Given the description of an element on the screen output the (x, y) to click on. 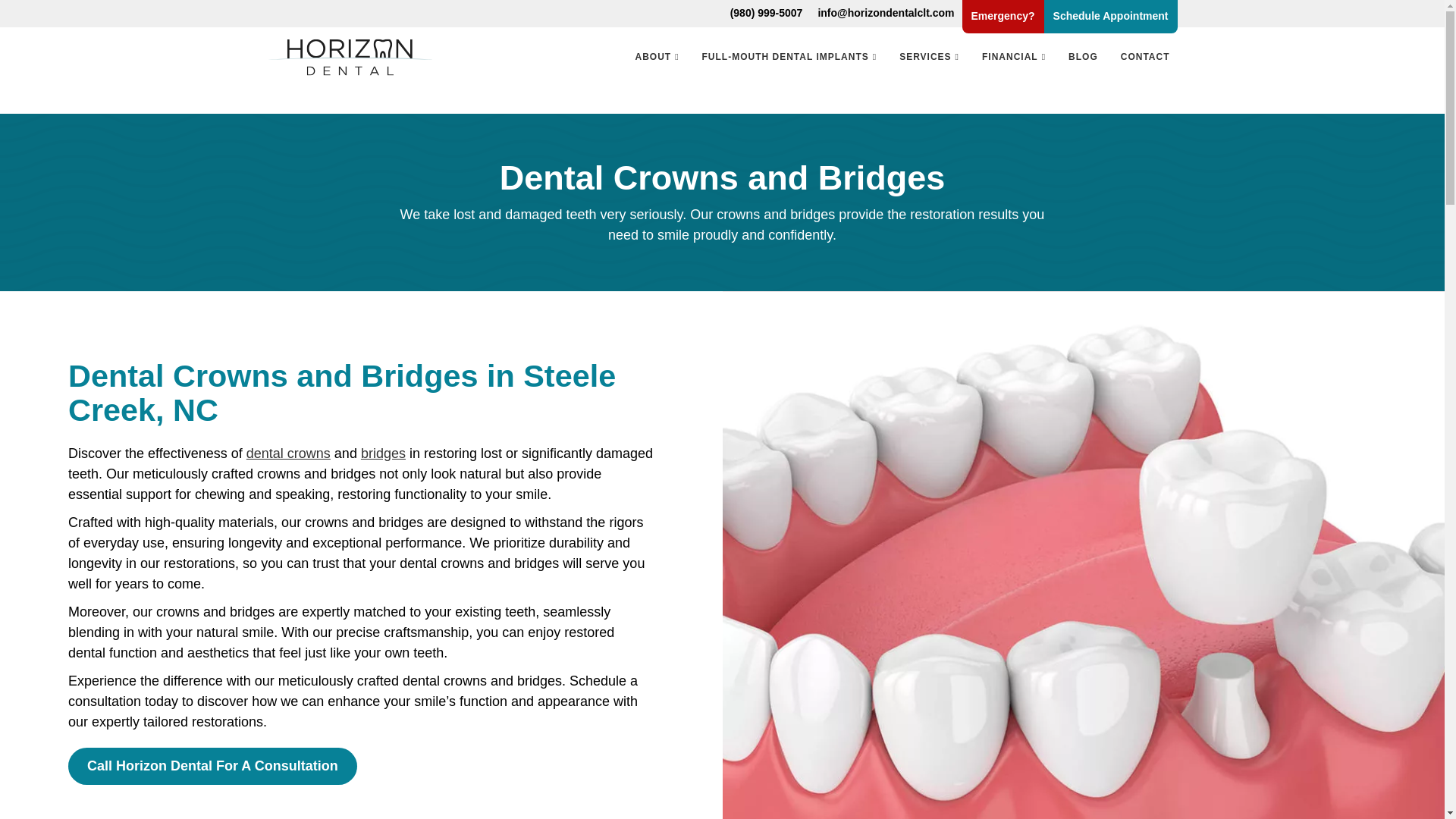
Emergency? (1002, 16)
FULL-MOUTH DENTAL IMPLANTS (789, 57)
Schedule Appointment (1110, 16)
ABOUT (656, 57)
FINANCIAL (1013, 57)
CONTACT (1145, 57)
BLOG (1083, 57)
SERVICES (928, 57)
